Given the description of an element on the screen output the (x, y) to click on. 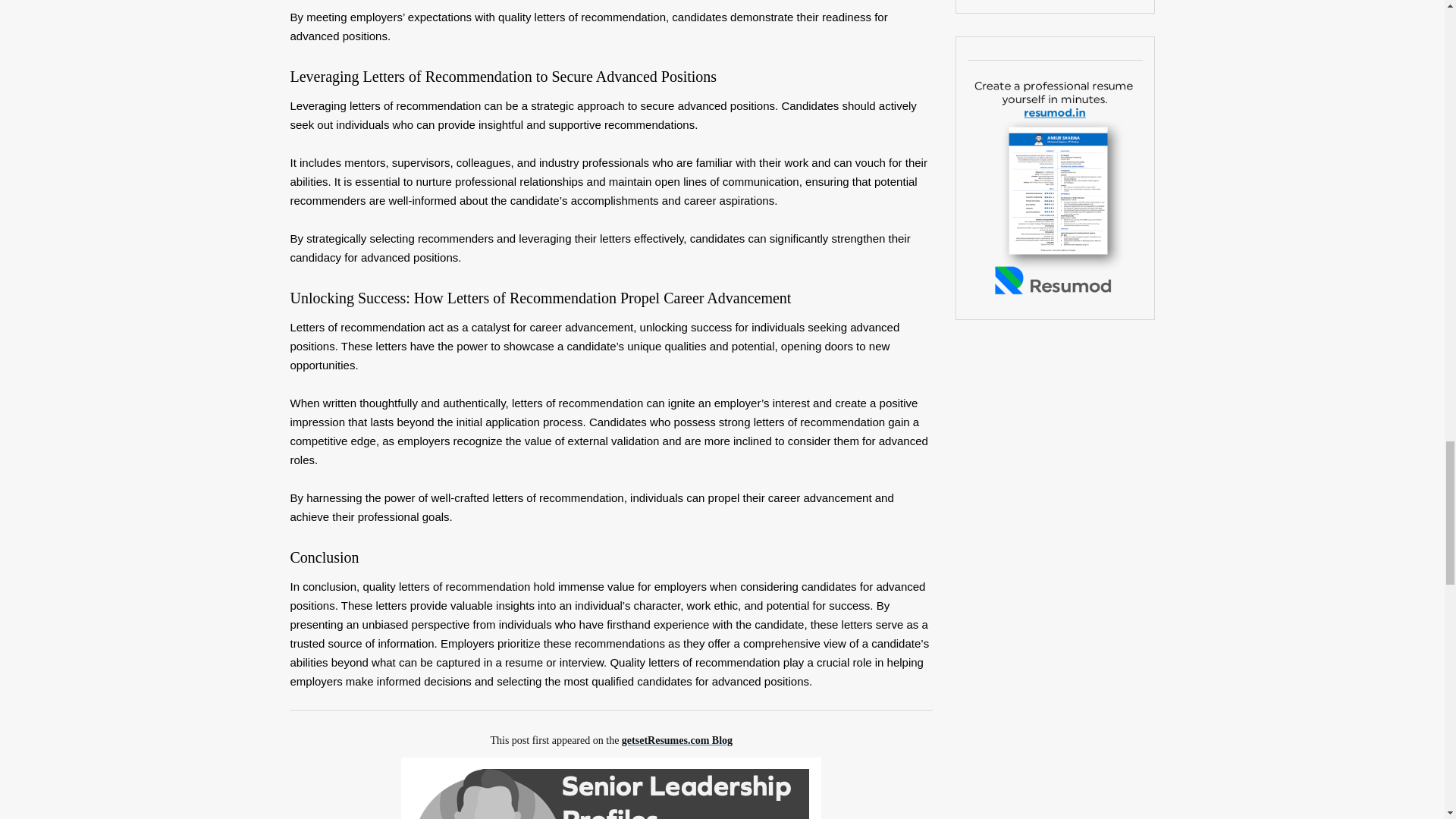
getsetResumes.com Blog (676, 740)
